Given the description of an element on the screen output the (x, y) to click on. 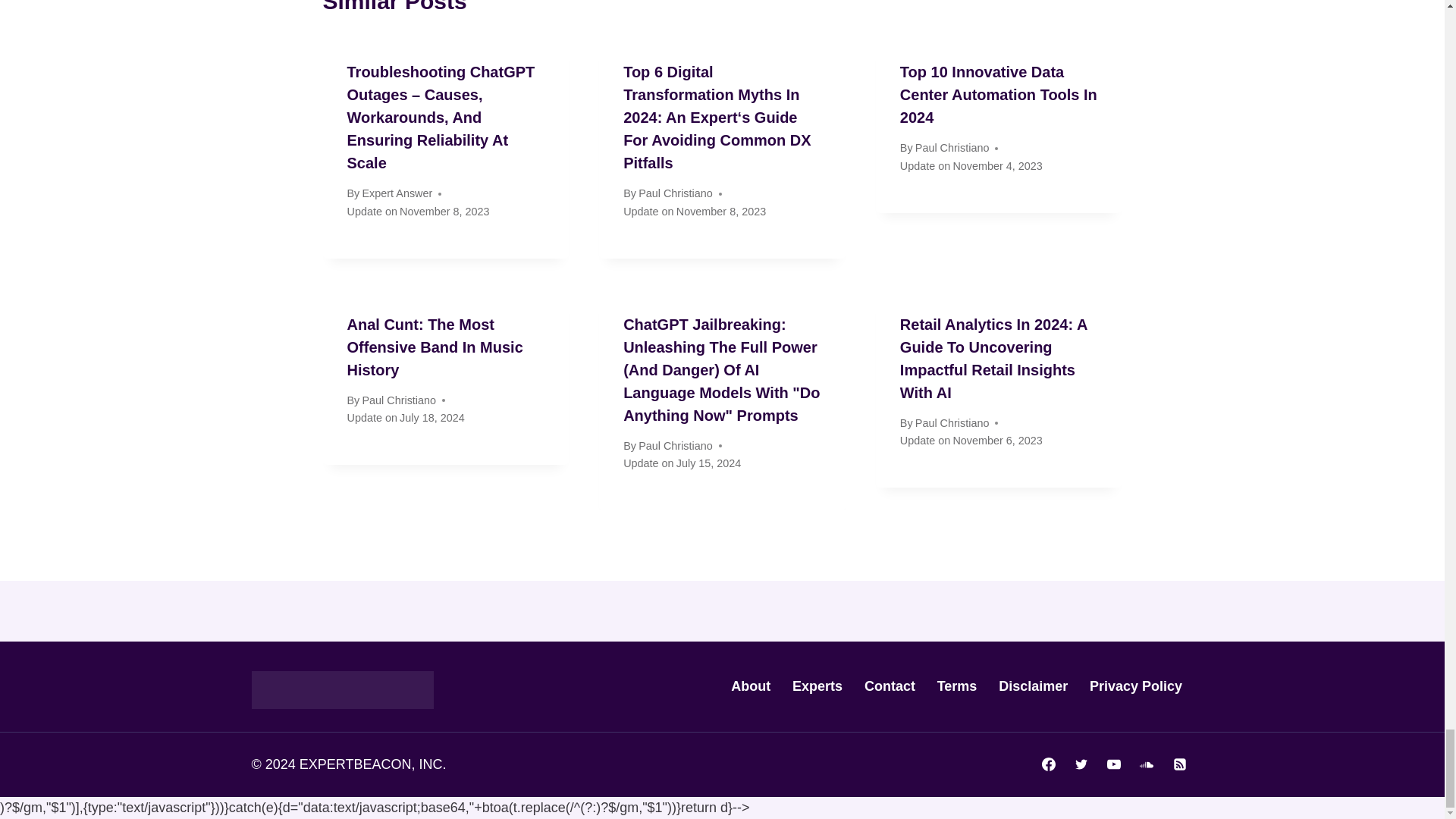
Top 10 Innovative Data Center Automation Tools In 2024 (998, 94)
nofollow (750, 686)
nofollow (889, 686)
